Given the description of an element on the screen output the (x, y) to click on. 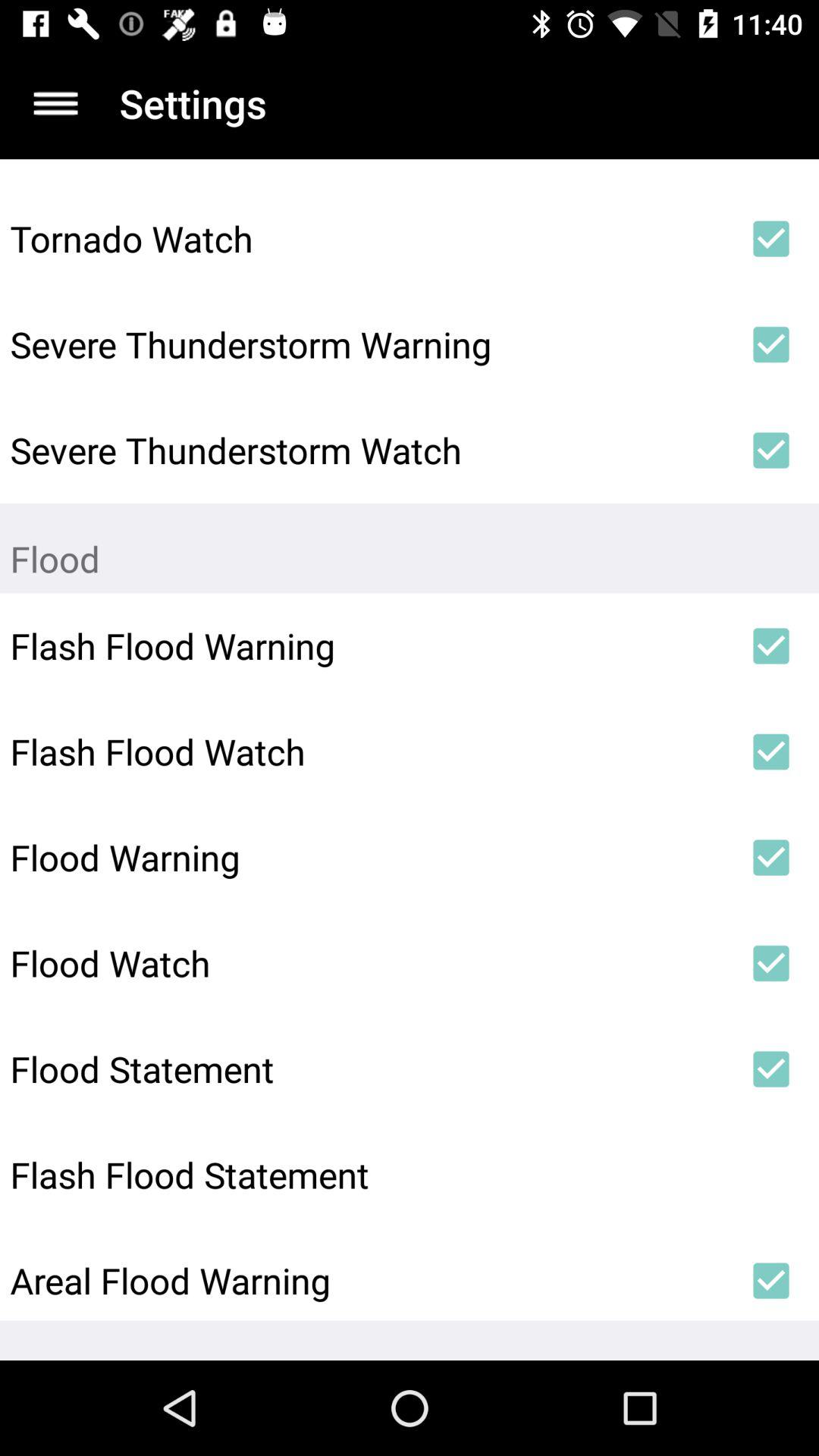
configuration button (55, 103)
